Given the description of an element on the screen output the (x, y) to click on. 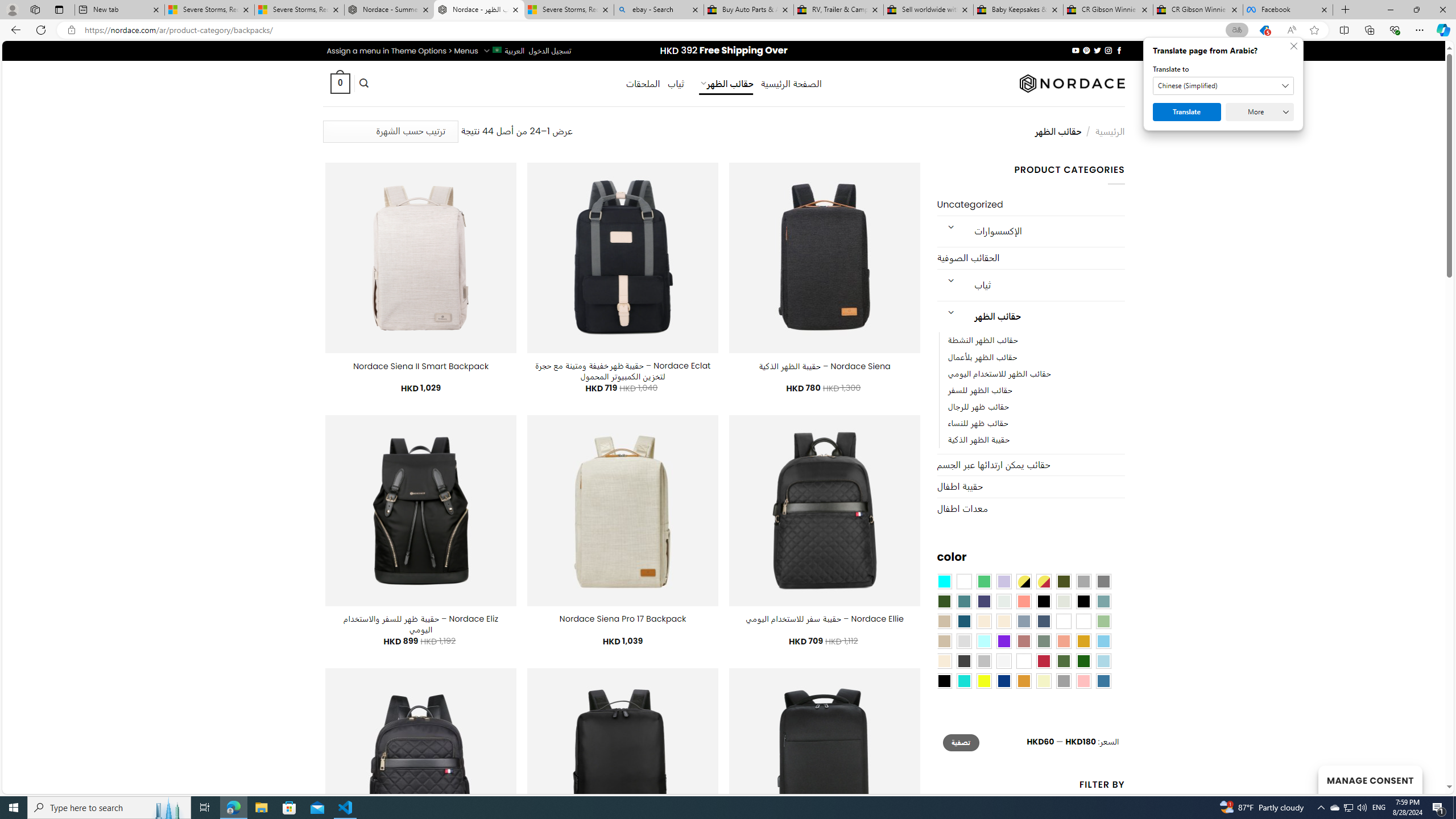
Nordace Siena Pro 17 Backpack (622, 618)
Light-Gray (963, 640)
